Given the description of an element on the screen output the (x, y) to click on. 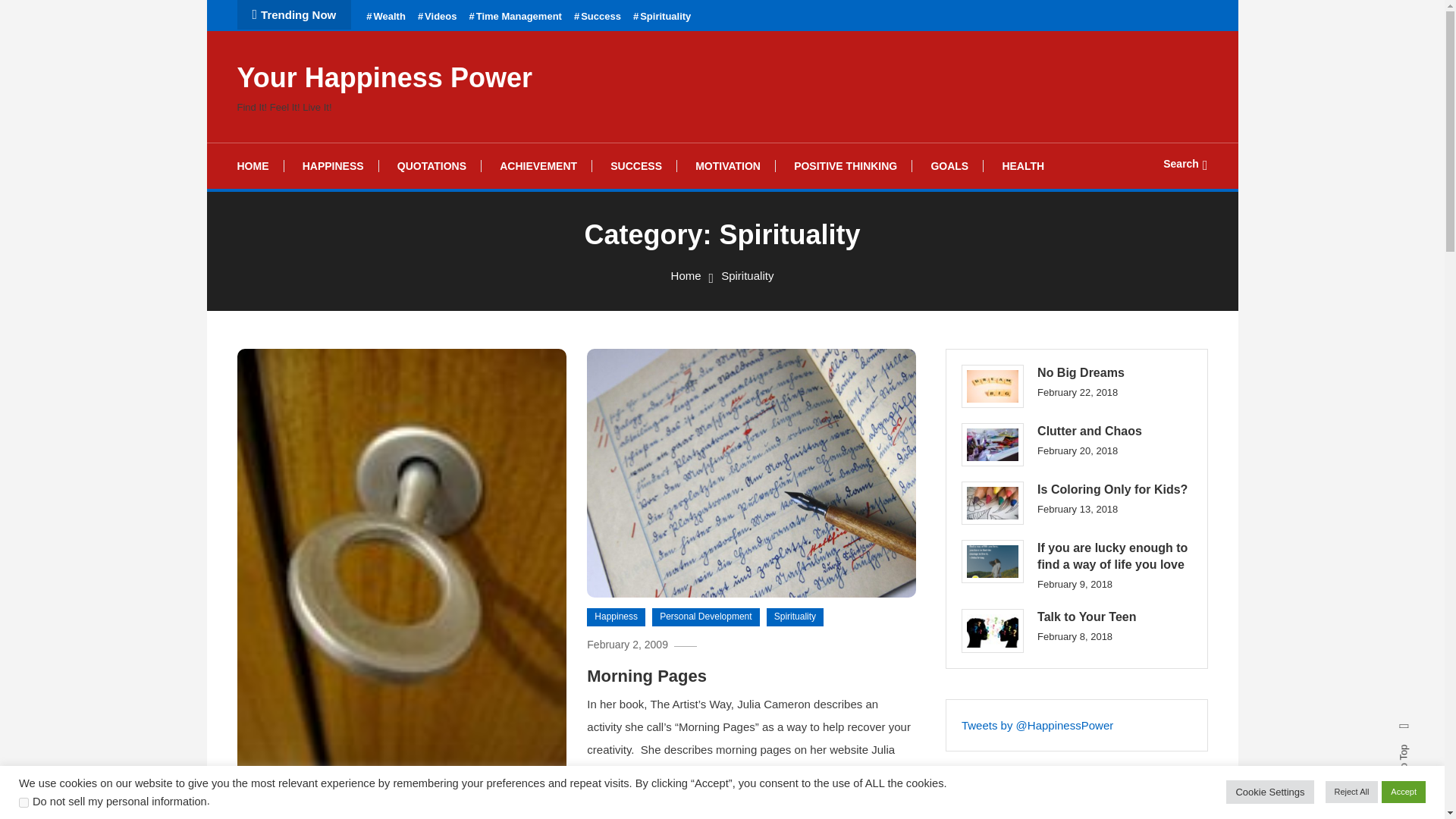
Wealth (386, 16)
HOME (259, 166)
No Big Dreams (991, 385)
MOTIVATION (727, 166)
POSITIVE THINKING (845, 166)
Time Management (514, 16)
Spirituality (661, 16)
on (23, 802)
Is Coloring Only for Kids? (991, 502)
Your Happiness Power (383, 77)
